Given the description of an element on the screen output the (x, y) to click on. 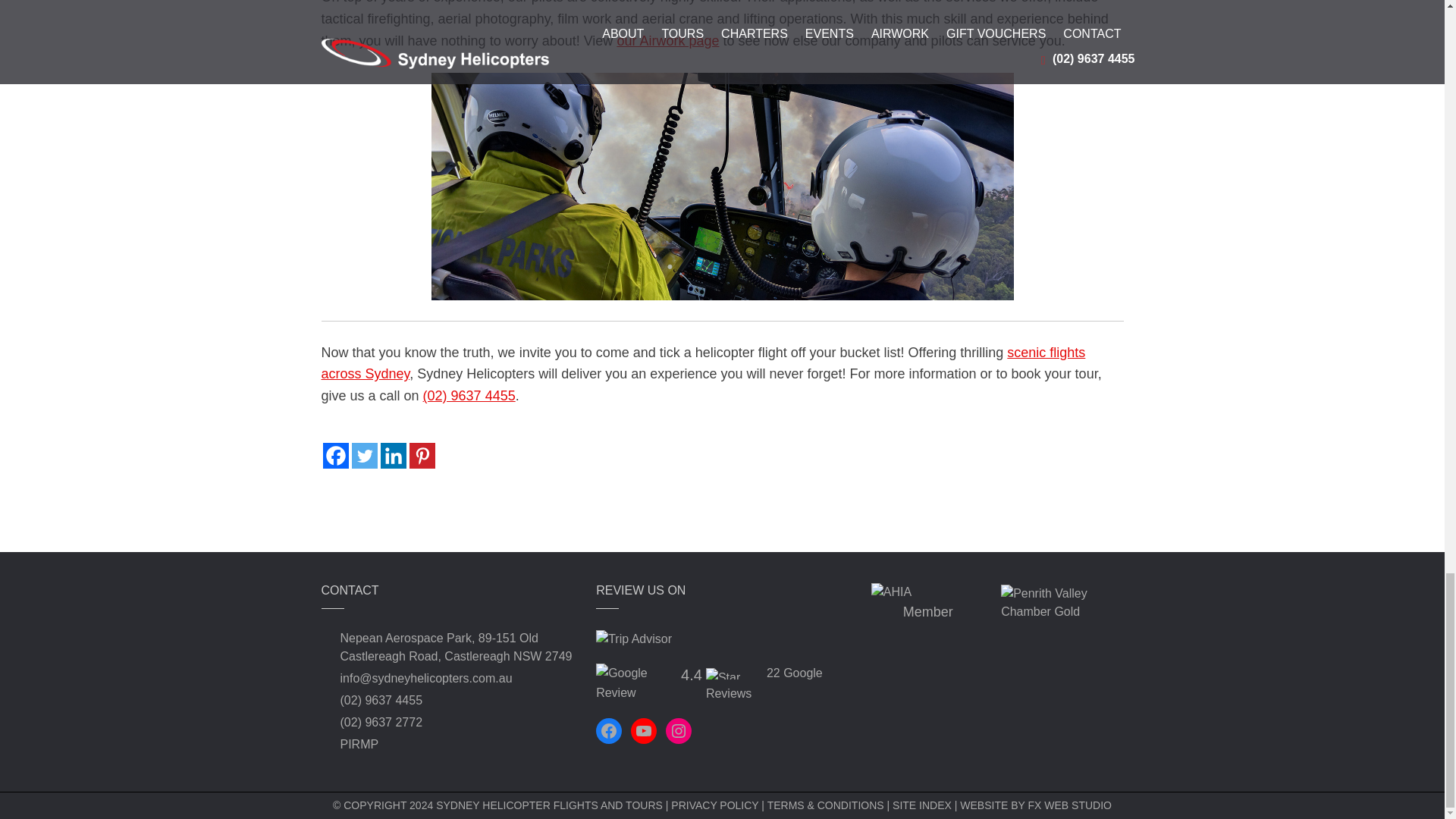
Twitter (364, 455)
Linkedin (393, 455)
Pinterest (422, 455)
Star Rating (734, 673)
scenic flights across Sydney (703, 363)
Trip Advisor (633, 638)
Google Review (636, 682)
our Airwork page (667, 40)
Facebook (336, 455)
